Given the description of an element on the screen output the (x, y) to click on. 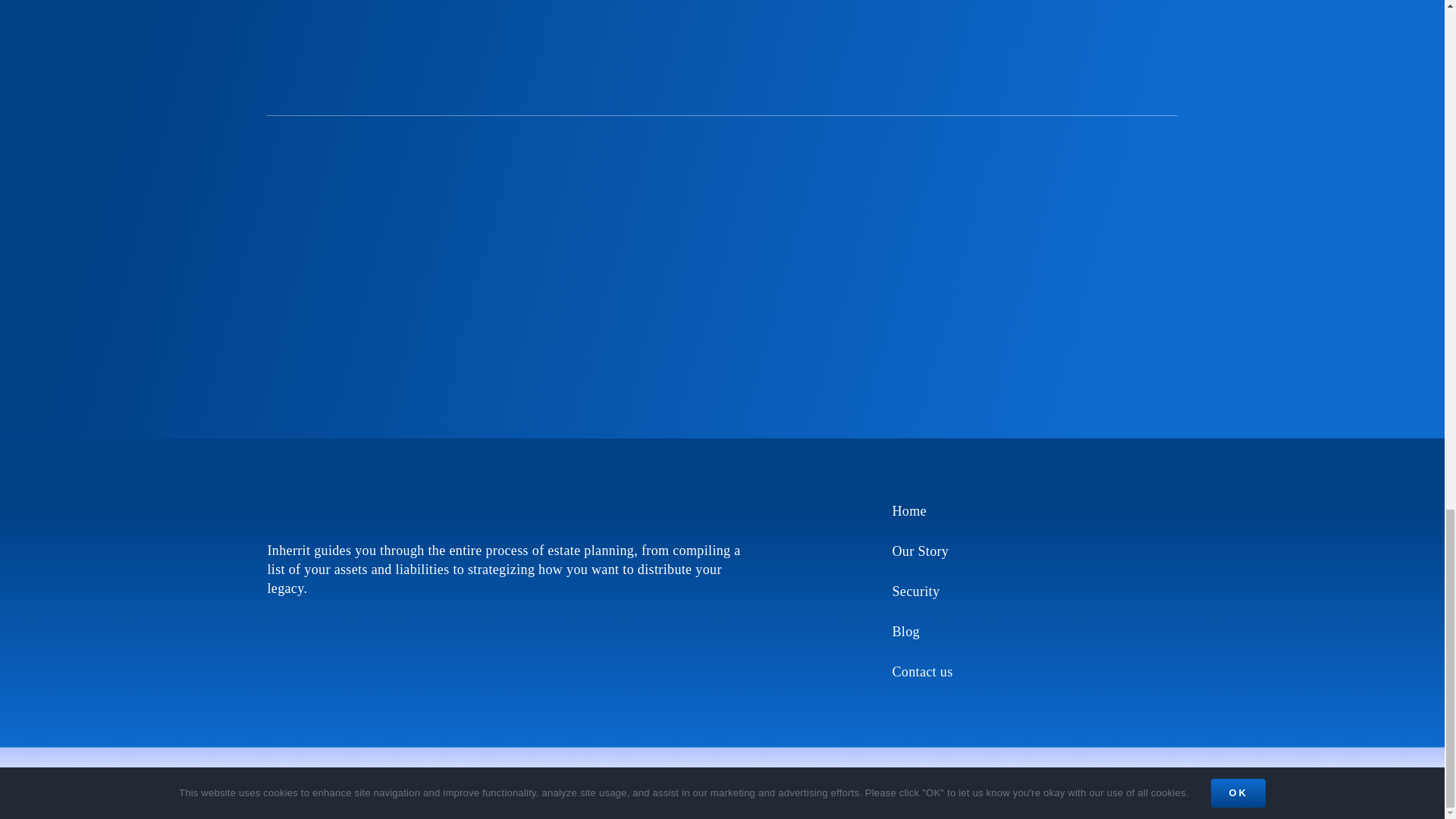
Blog (1033, 631)
Home (1033, 511)
inherrit-white-1 (309, 507)
Contact us (1033, 672)
Security (1033, 591)
Cookie Policy (502, 772)
Privacy Policy (569, 772)
Our Story (1033, 551)
